Given the description of an element on the screen output the (x, y) to click on. 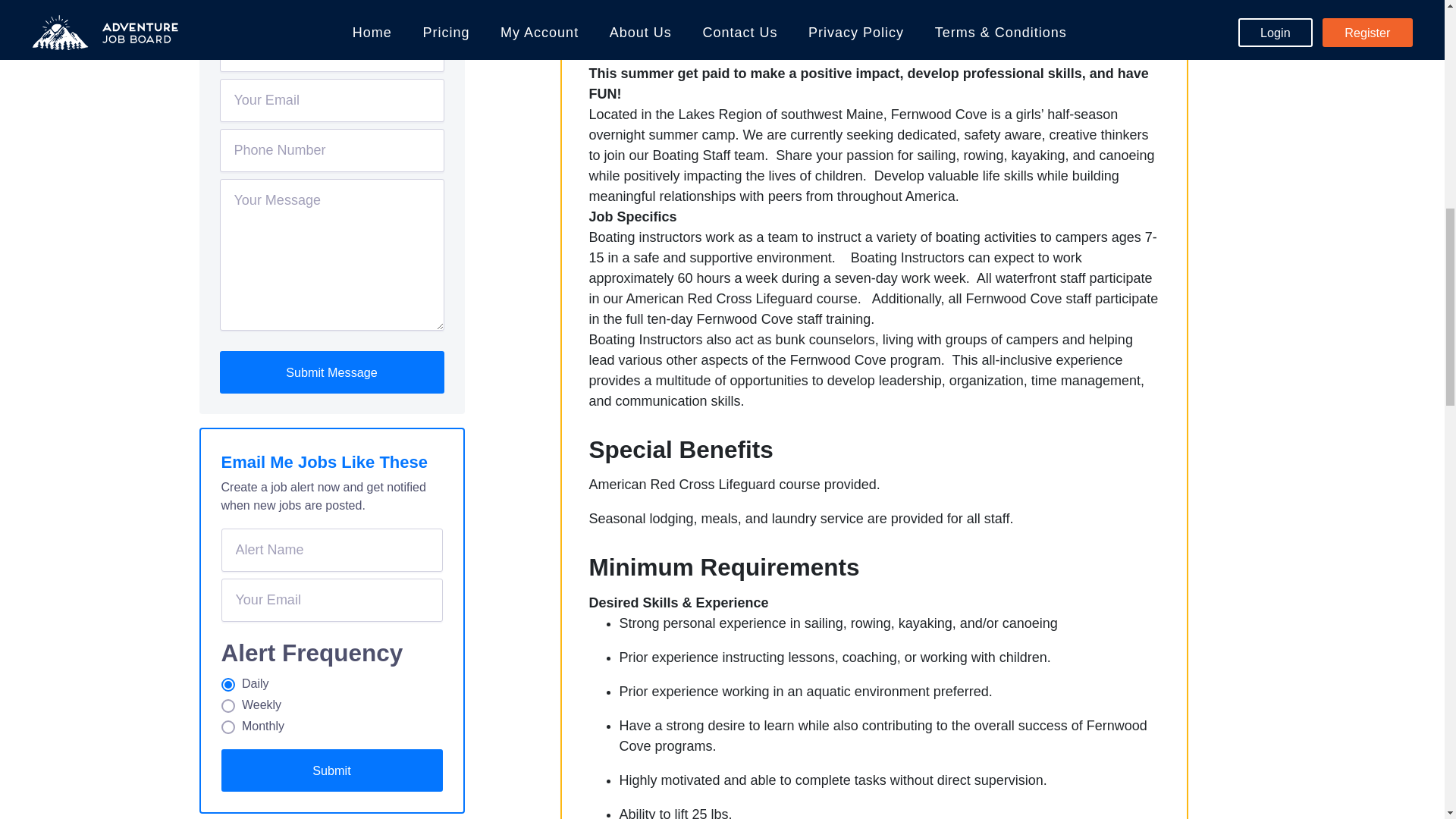
Submit Message (331, 372)
Submit (331, 770)
Submit (331, 770)
Submit Message (331, 372)
